Given the description of an element on the screen output the (x, y) to click on. 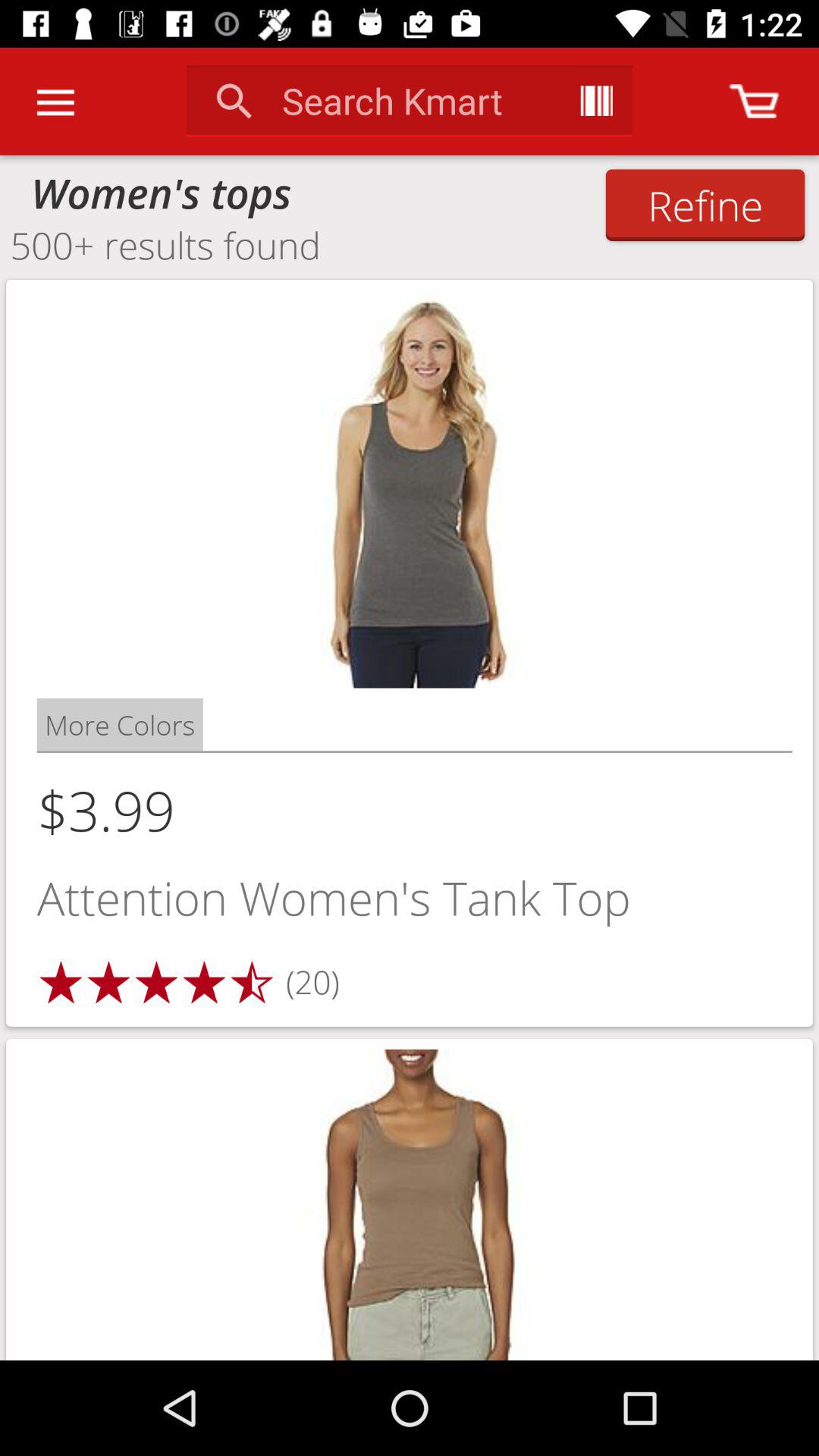
turn on the refine icon (704, 205)
